Given the description of an element on the screen output the (x, y) to click on. 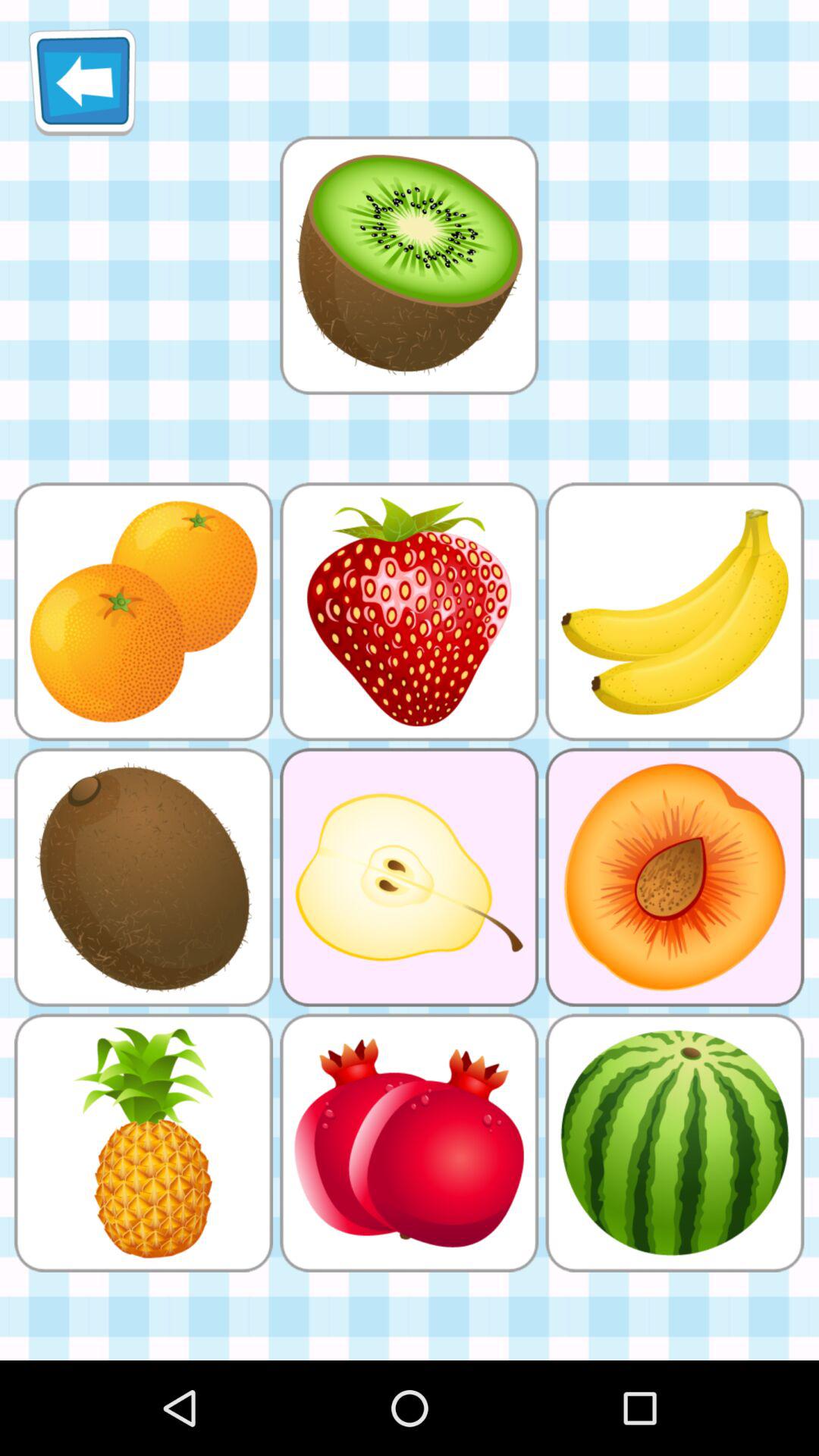
tasty kiwi (409, 265)
